Given the description of an element on the screen output the (x, y) to click on. 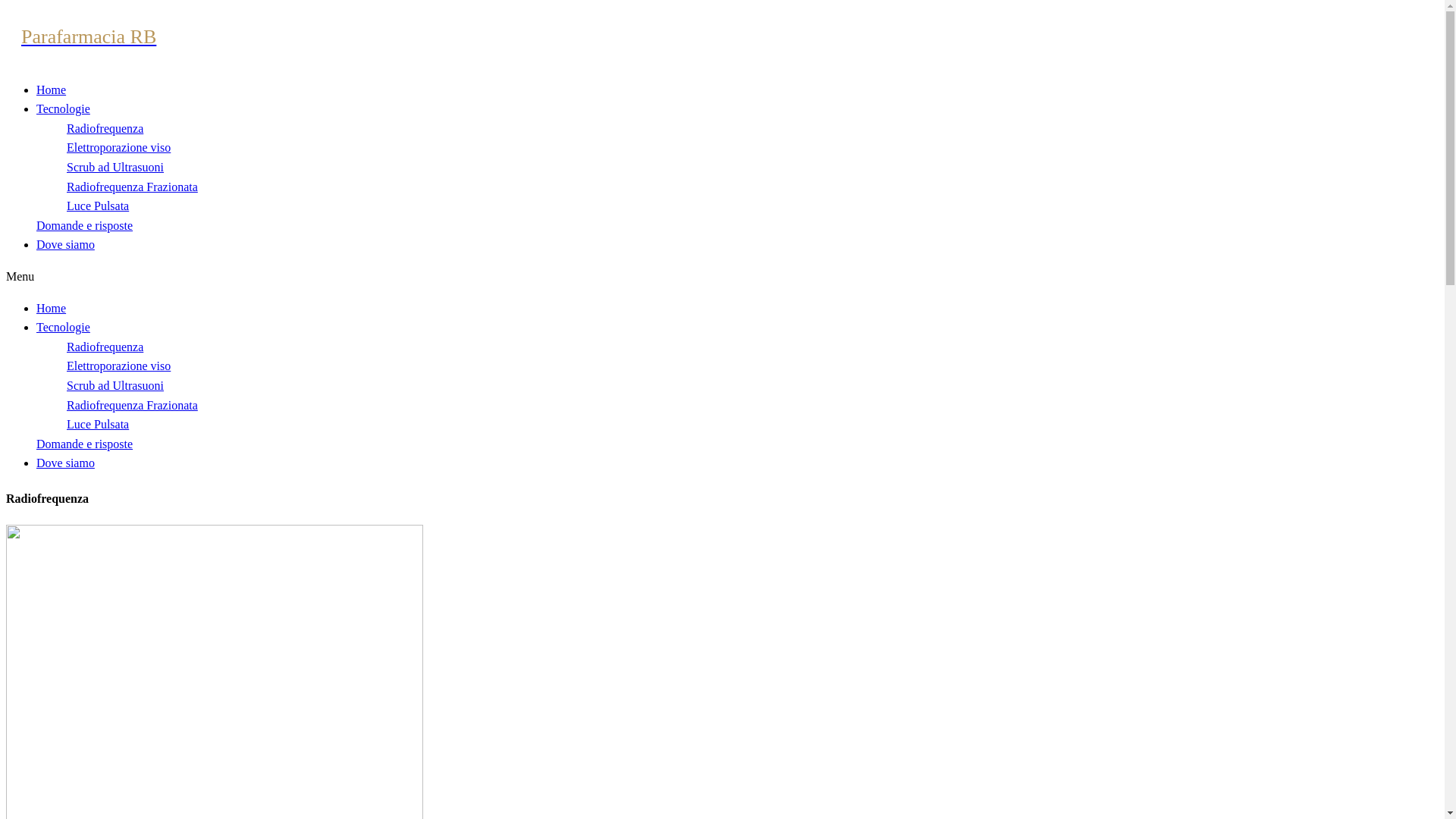
Radiofrequenza Element type: text (104, 128)
Luce Pulsata Element type: text (97, 205)
Tecnologie Element type: text (63, 326)
Dove siamo Element type: text (65, 244)
Domande e risposte Element type: text (84, 443)
Parafarmacia RB Element type: text (722, 37)
Tecnologie Element type: text (63, 108)
Elettroporazione viso Element type: text (118, 147)
Dove siamo Element type: text (65, 462)
Home Element type: text (50, 307)
Radiofrequenza Frazionata Element type: text (131, 186)
Radiofrequenza Frazionata Element type: text (131, 404)
Elettroporazione viso Element type: text (118, 365)
Luce Pulsata Element type: text (97, 423)
Radiofrequenza Element type: text (104, 346)
Scrub ad Ultrasuoni Element type: text (114, 385)
Scrub ad Ultrasuoni Element type: text (114, 166)
Home Element type: text (50, 89)
Domande e risposte Element type: text (84, 225)
